Given the description of an element on the screen output the (x, y) to click on. 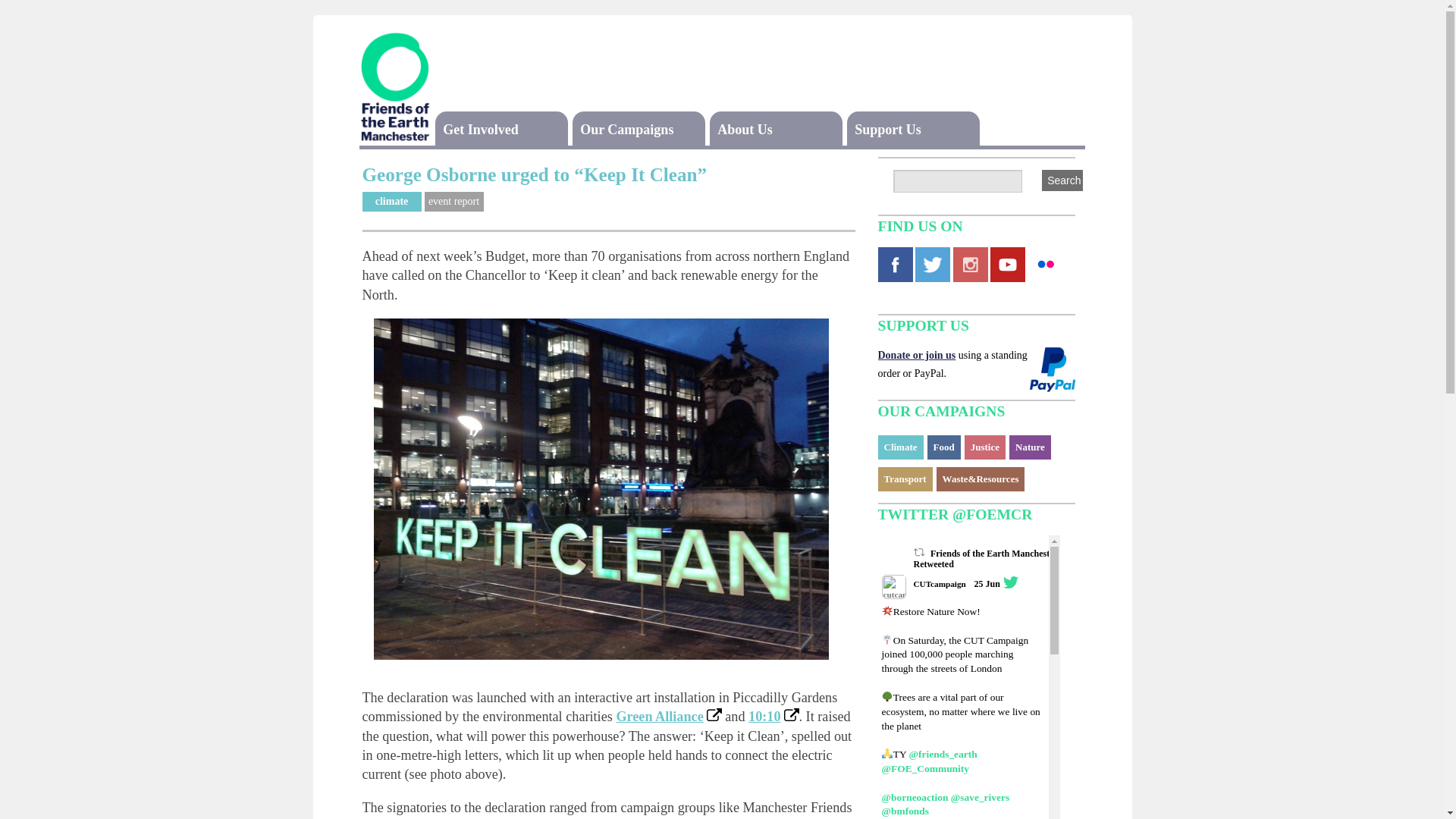
About Us (745, 129)
Search (1064, 179)
Our Campaigns (625, 129)
Get Involved (480, 129)
